Given the description of an element on the screen output the (x, y) to click on. 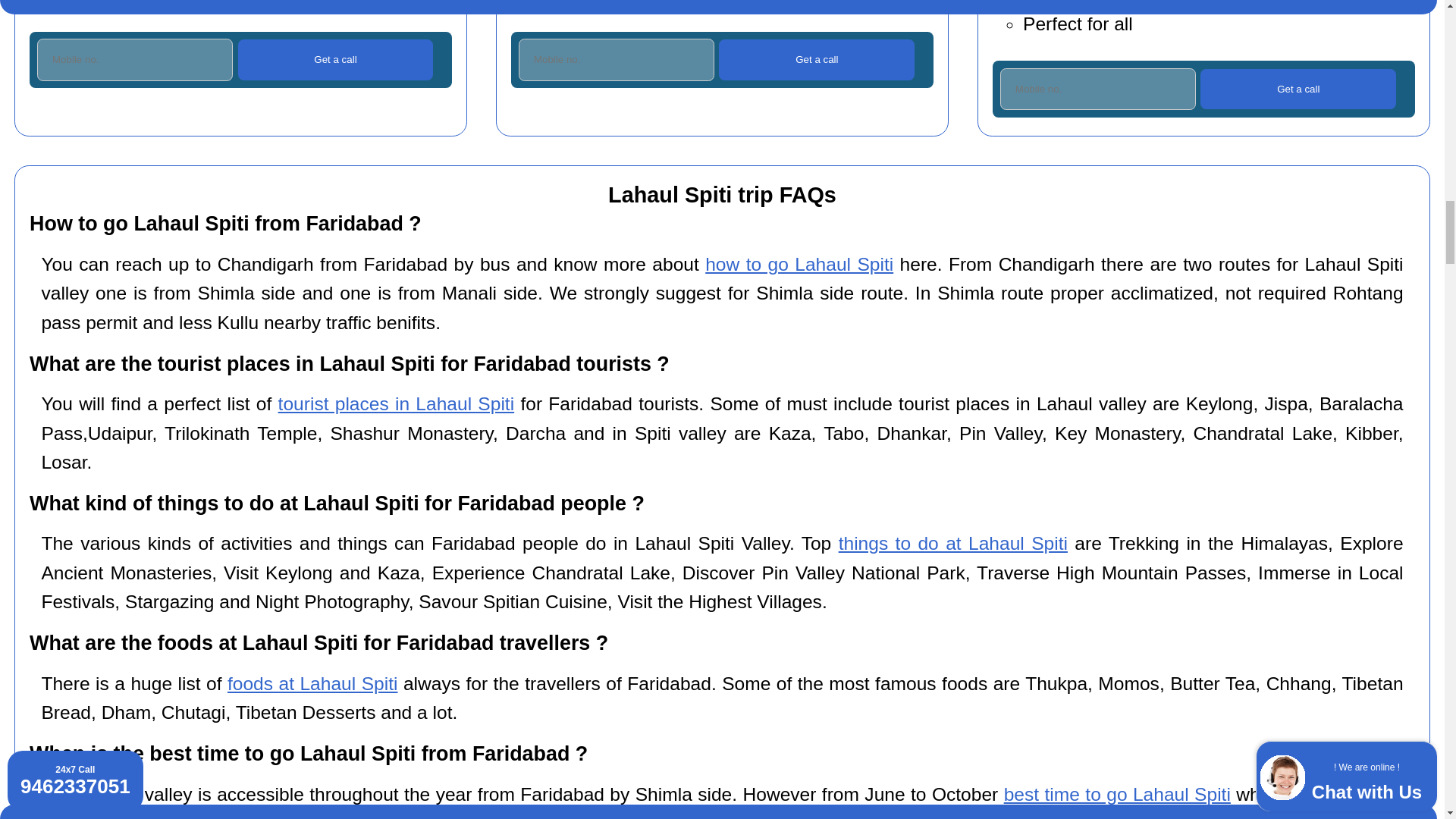
Enter your Mo. no. only digits (616, 59)
Get a call (335, 59)
Get a call (816, 59)
foods at Lahaul Spiti (312, 683)
Get a call (1297, 88)
things to do at Lahaul Spiti (952, 543)
Get a call (816, 59)
how to go Lahaul Spiti (798, 263)
tourist places in Lahaul Spiti (396, 403)
Enter your Mo. no. only digits (1097, 88)
